Given the description of an element on the screen output the (x, y) to click on. 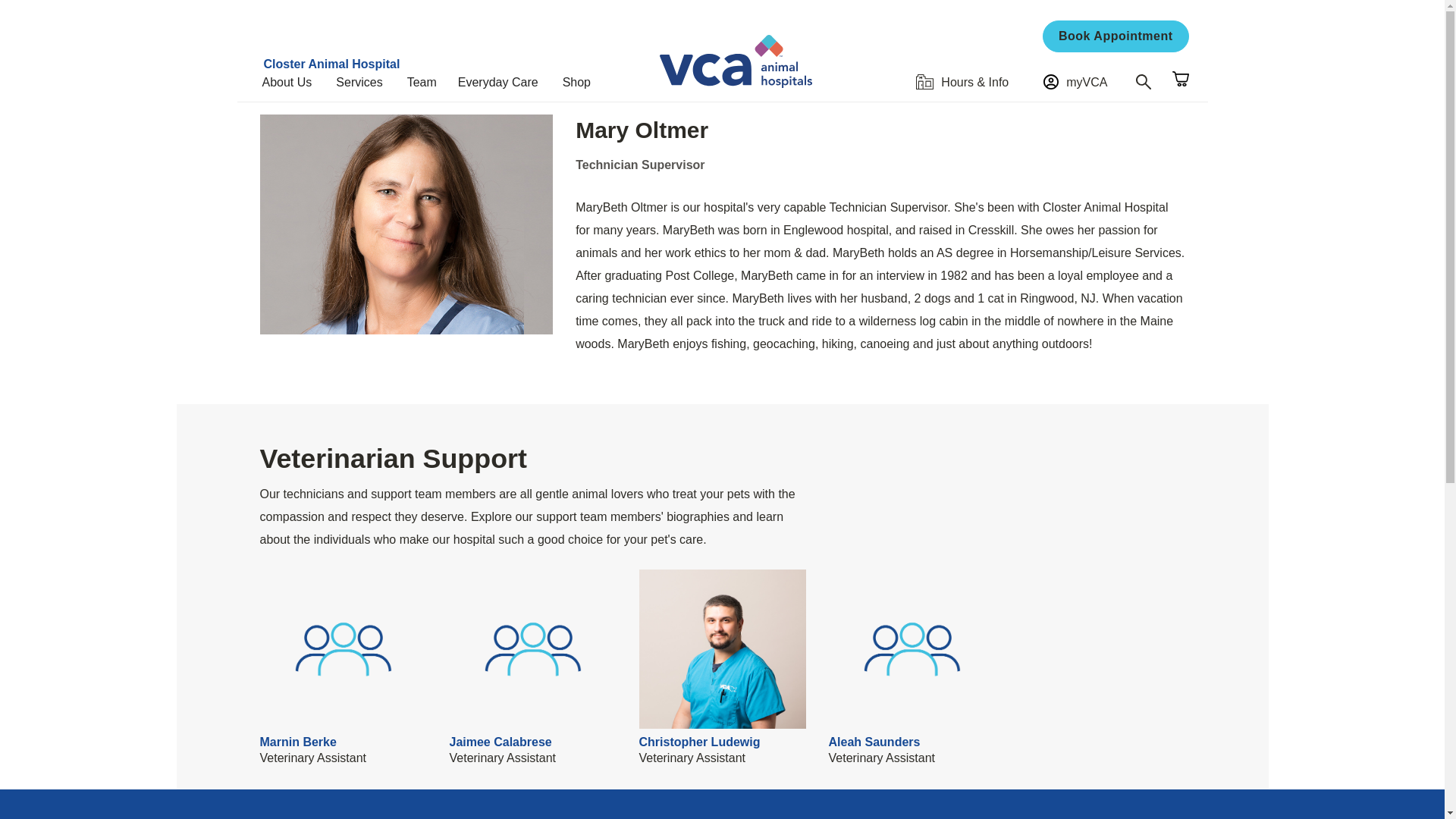
About Us (293, 82)
Services (365, 82)
